Given the description of an element on the screen output the (x, y) to click on. 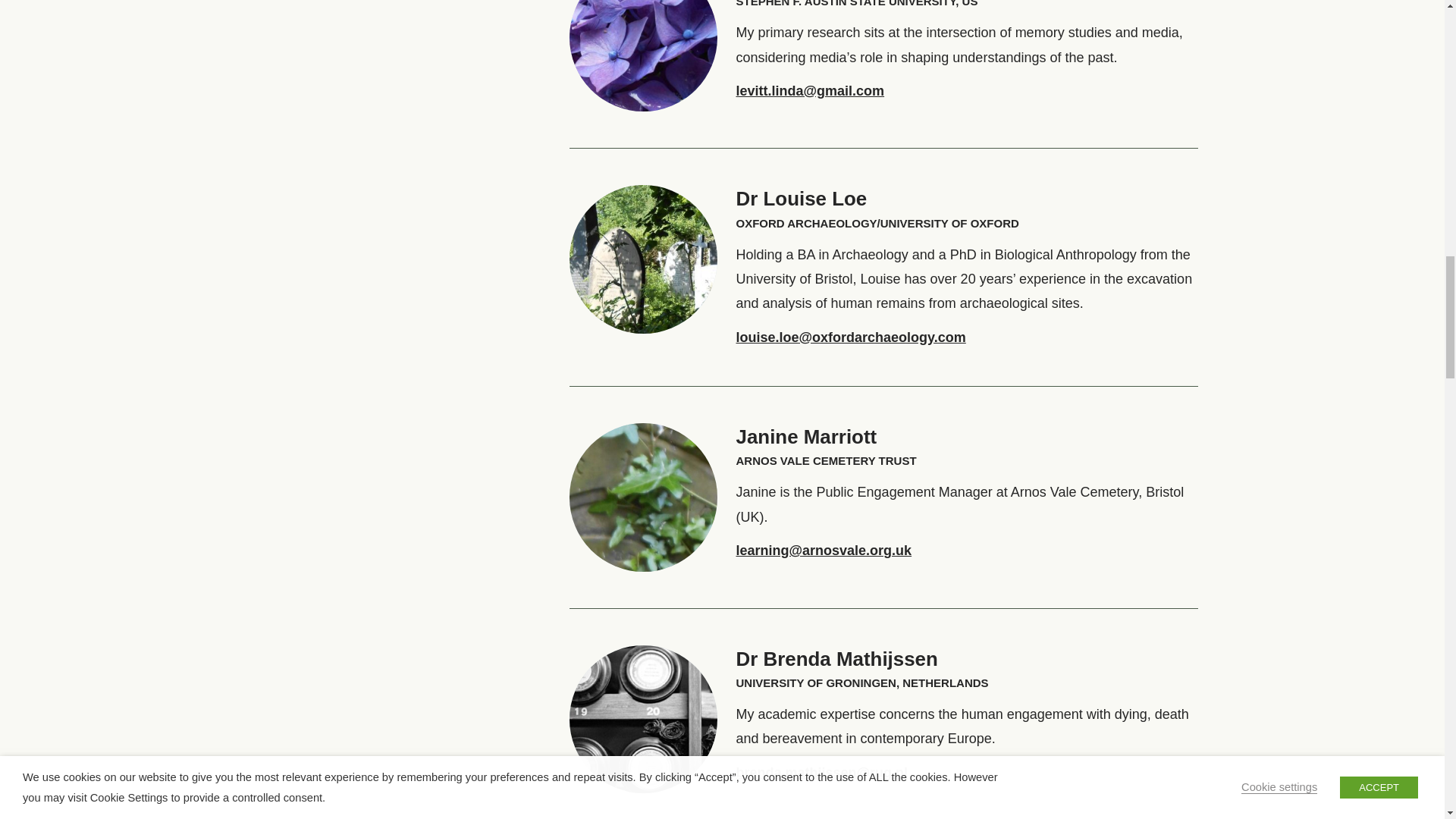
Dr Louise Loe (800, 198)
Janine Marriott (805, 436)
Dr Brenda Mathijssen (836, 658)
